Given the description of an element on the screen output the (x, y) to click on. 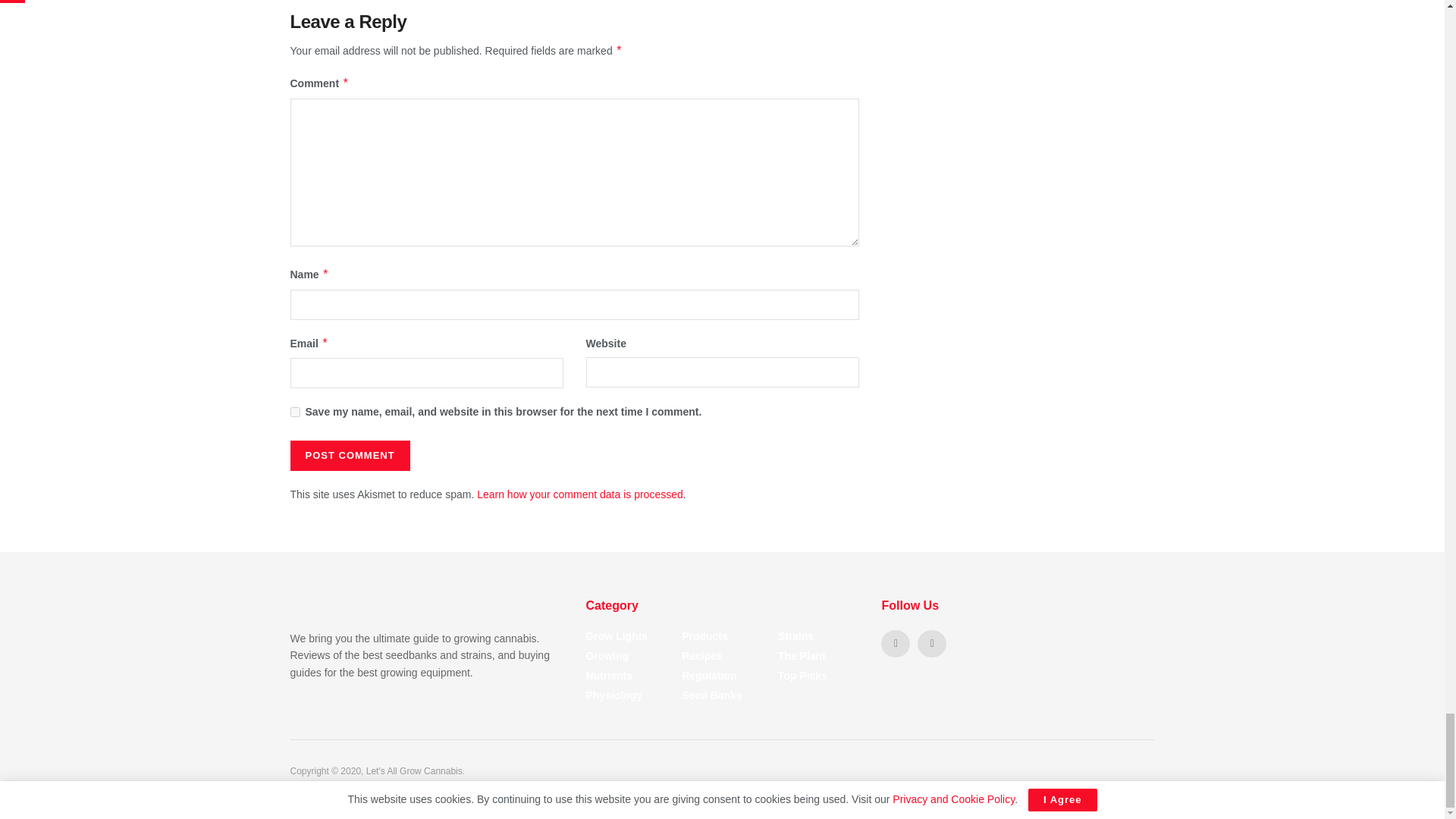
yes (294, 411)
Post Comment (349, 455)
